Given the description of an element on the screen output the (x, y) to click on. 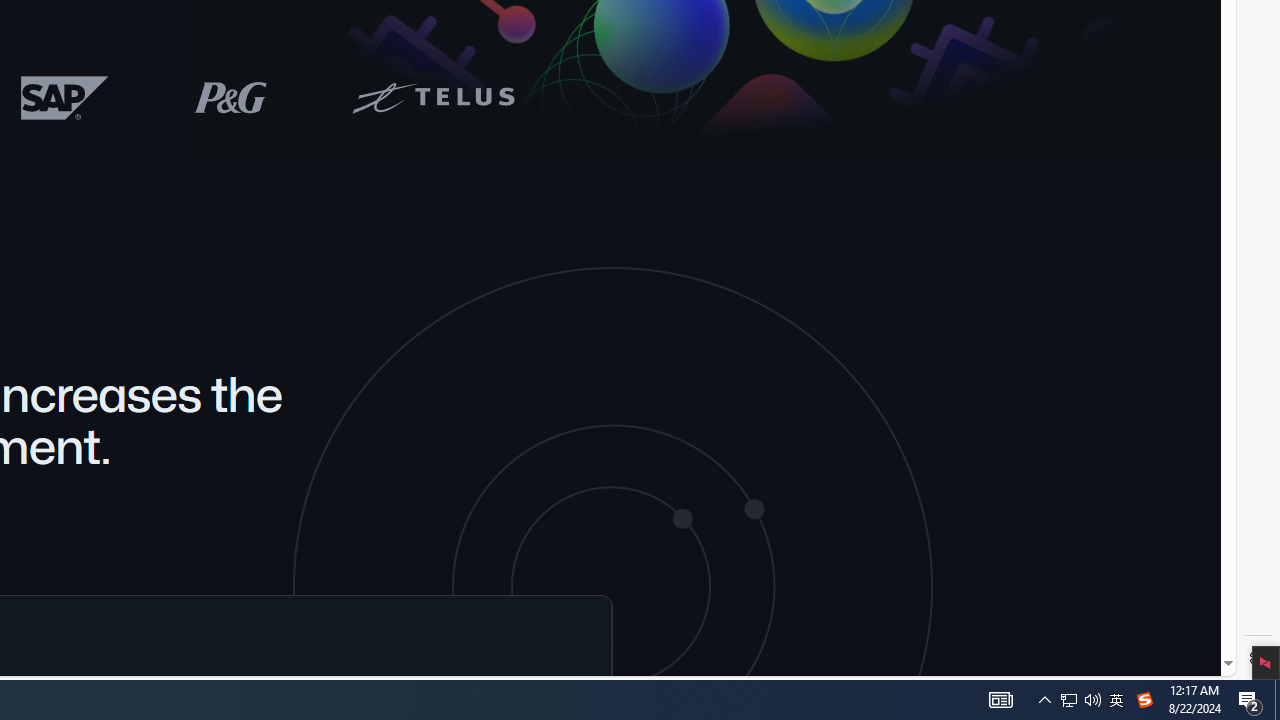
Telus logo (432, 96)
P&G logo (230, 96)
SAP logo (65, 97)
